Given the description of an element on the screen output the (x, y) to click on. 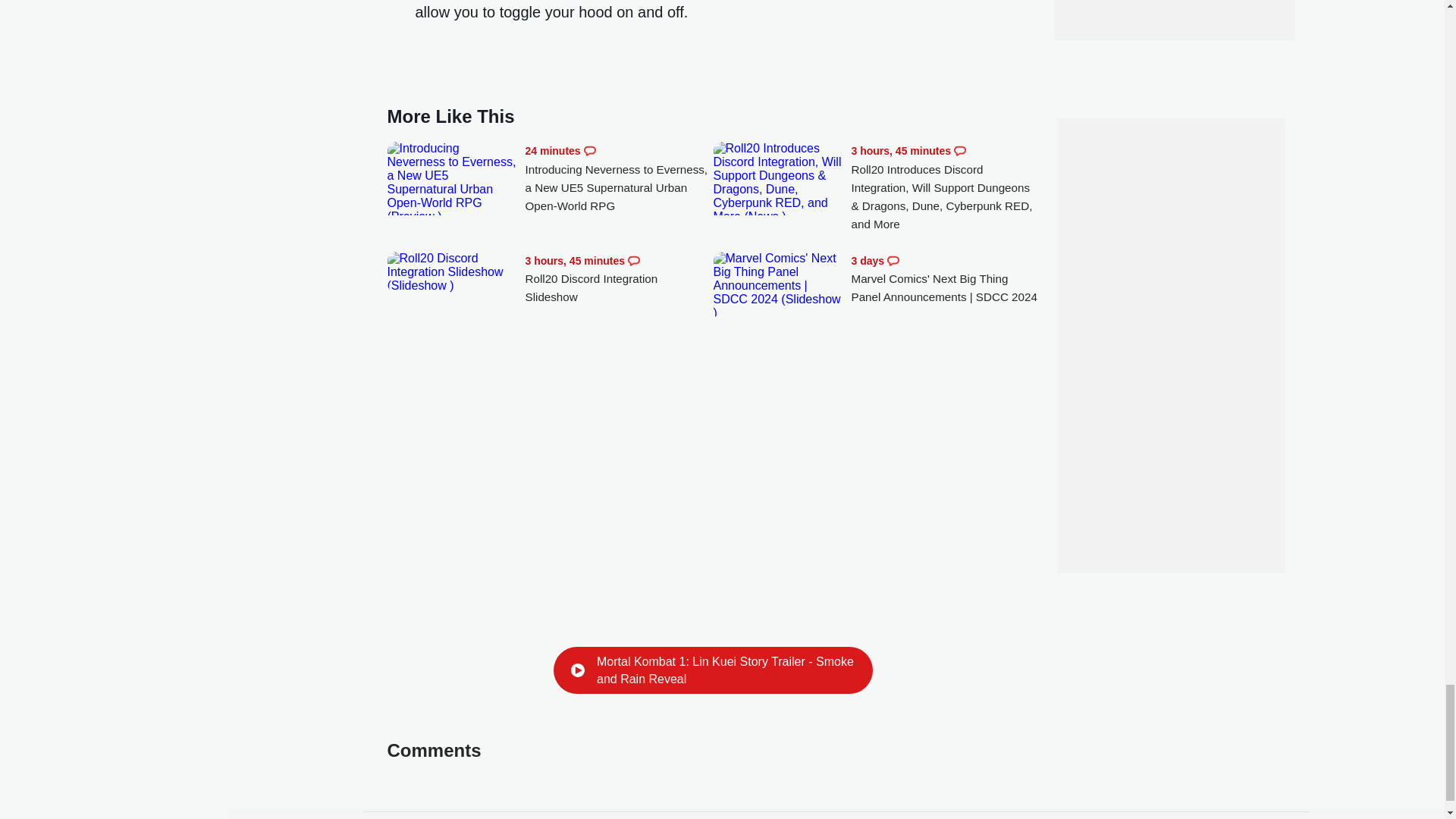
Roll20 Discord Integration Slideshow (451, 271)
Comments (589, 150)
Comments (633, 260)
Comments (892, 260)
Roll20 Discord Integration Slideshow (618, 279)
Comments (959, 150)
